Given the description of an element on the screen output the (x, y) to click on. 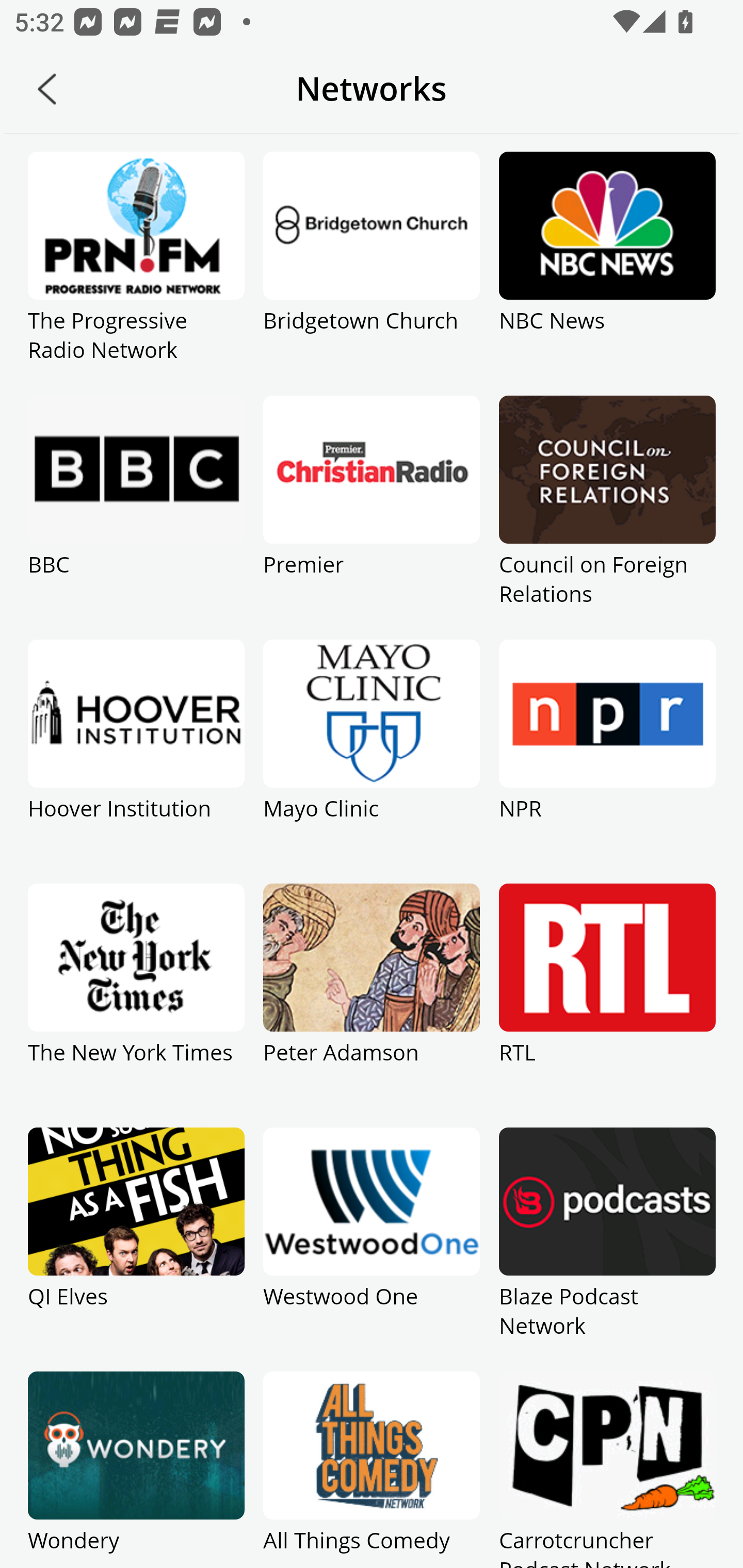
Back (46, 88)
The Progressive Radio Network (135, 273)
Bridgetown Church (371, 273)
NBC News (606, 273)
BBC (135, 517)
Premier (371, 517)
Council on Foreign Relations (606, 517)
Hoover Institution (135, 760)
Mayo Clinic (371, 760)
NPR (606, 760)
The New York Times (135, 1004)
Peter Adamson (371, 1004)
RTL (606, 1004)
QI Elves (135, 1249)
Westwood One (371, 1249)
Blaze Podcast Network (606, 1249)
Wondery (135, 1470)
All Things Comedy (371, 1470)
Carrotcruncher Podcast Network (606, 1470)
